Given the description of an element on the screen output the (x, y) to click on. 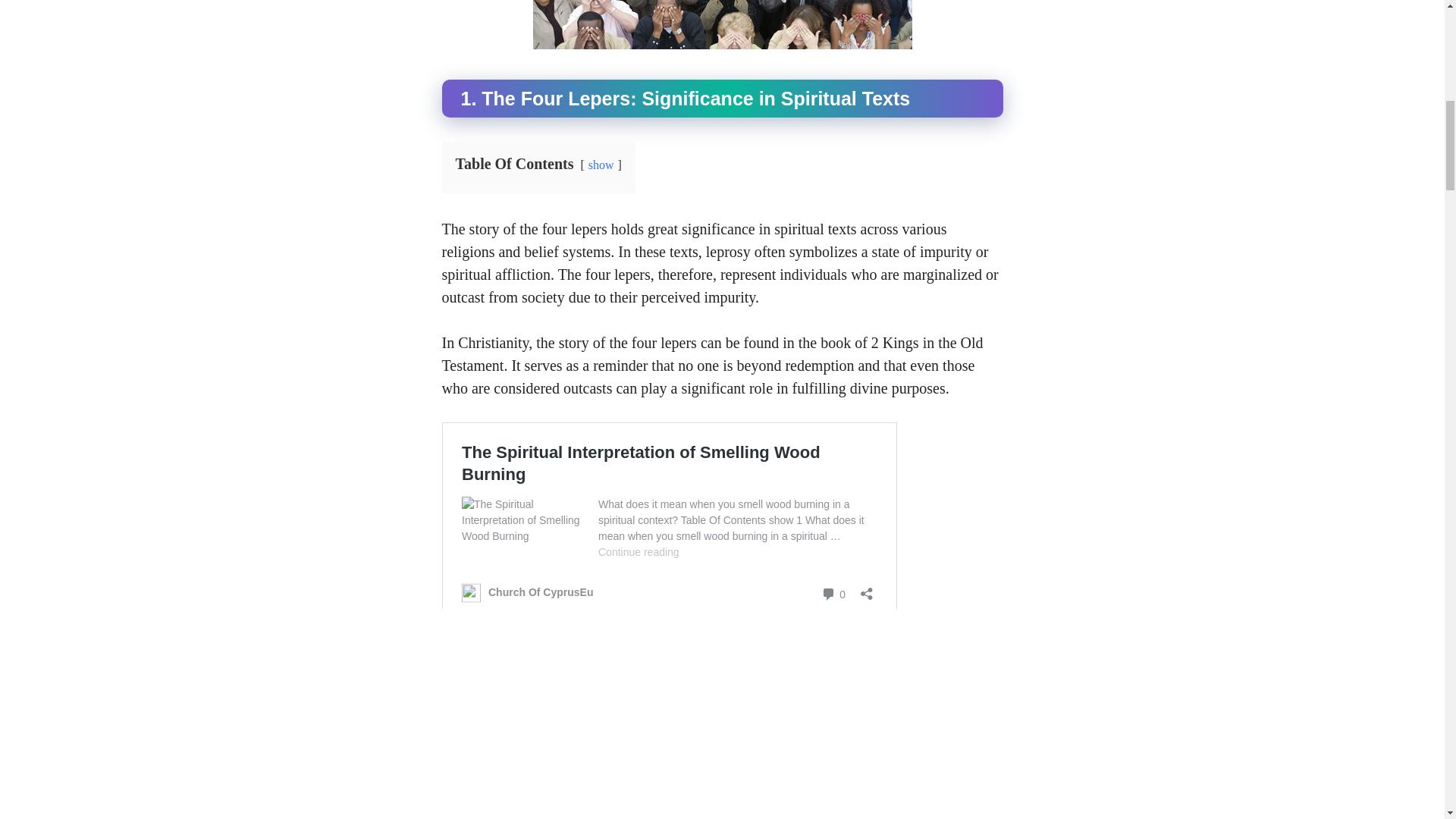
show (601, 164)
